Given the description of an element on the screen output the (x, y) to click on. 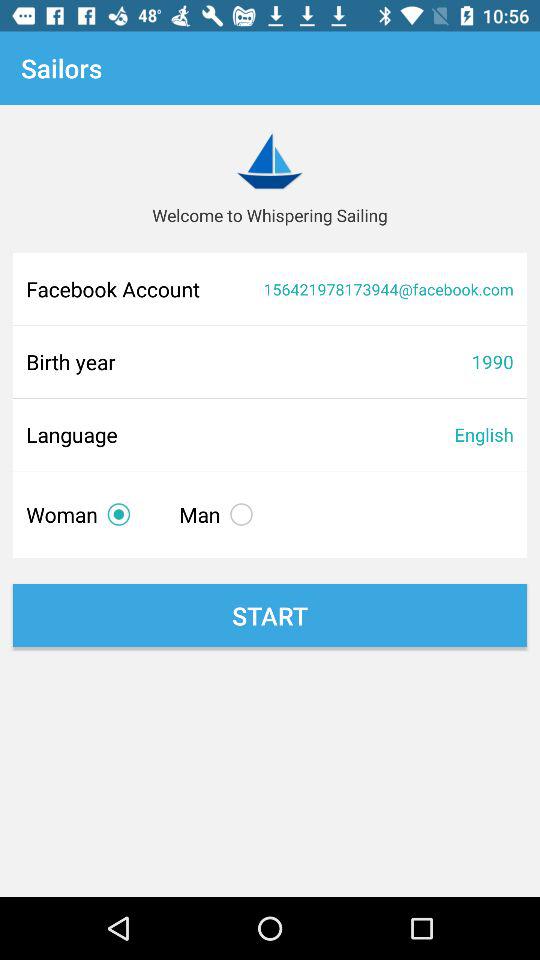
tap start (269, 615)
